Given the description of an element on the screen output the (x, y) to click on. 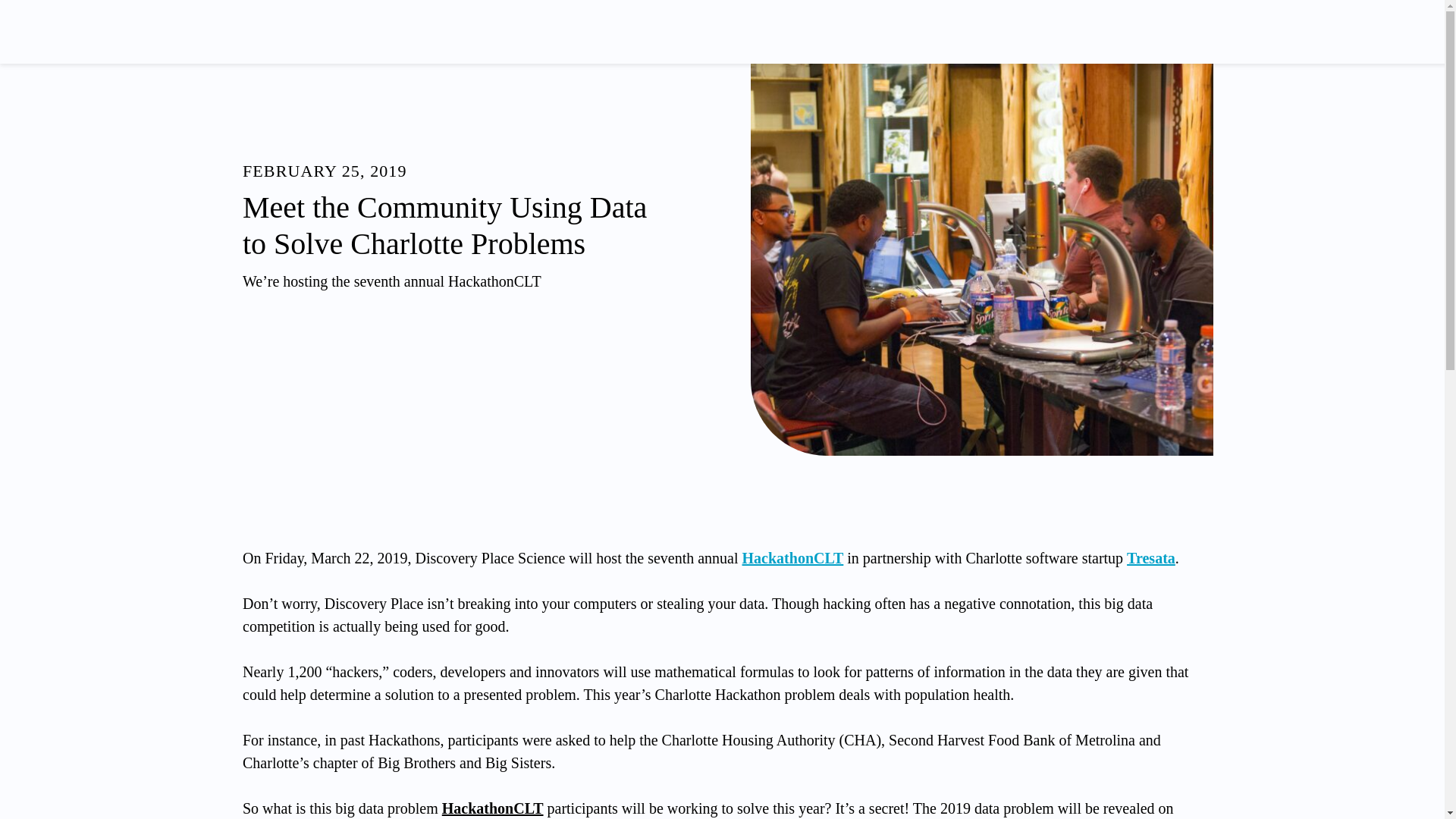
HackathonCLT (793, 557)
Tresata (1150, 557)
